Given the description of an element on the screen output the (x, y) to click on. 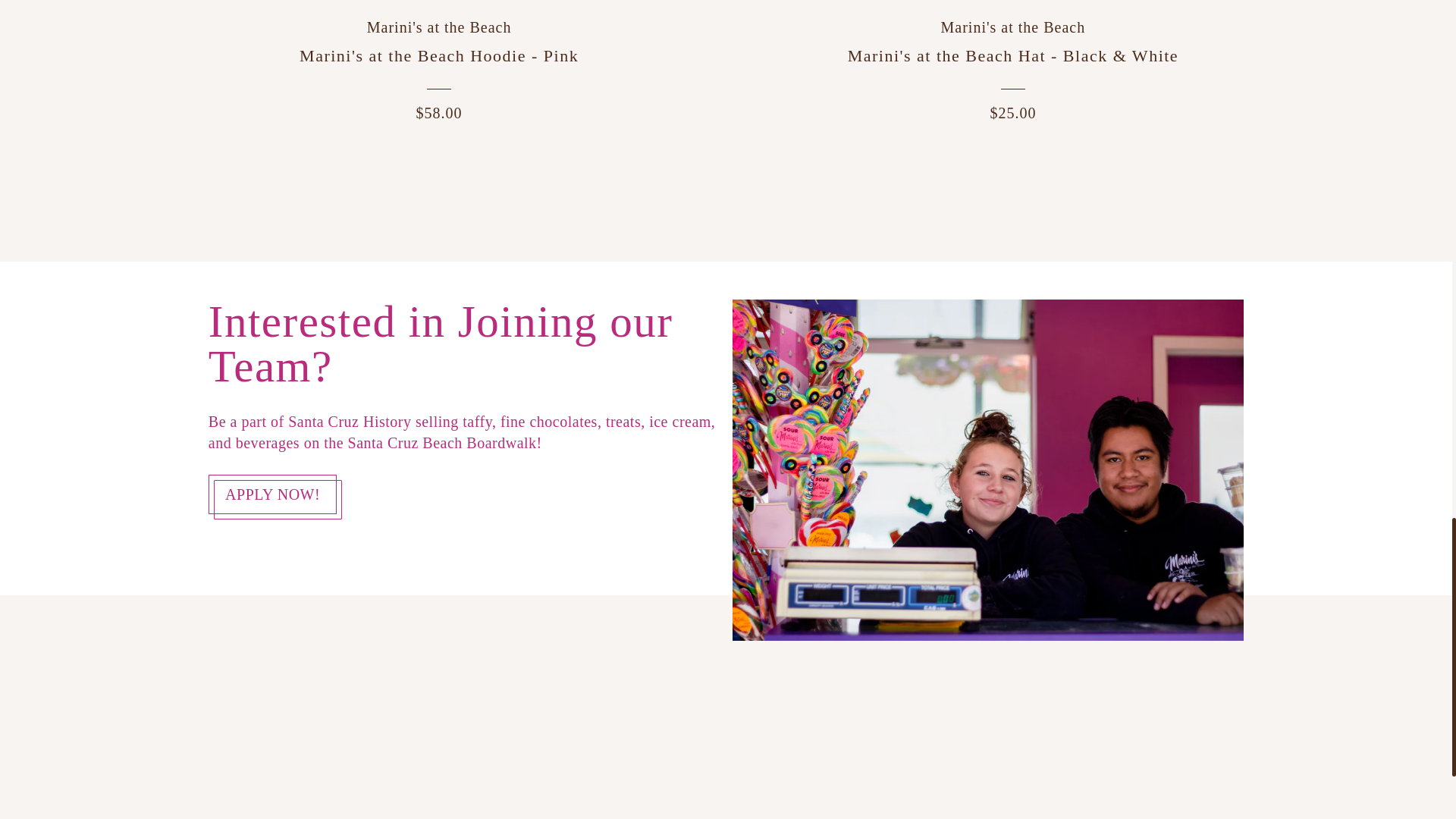
APPLY NOW! (272, 495)
